Given the description of an element on the screen output the (x, y) to click on. 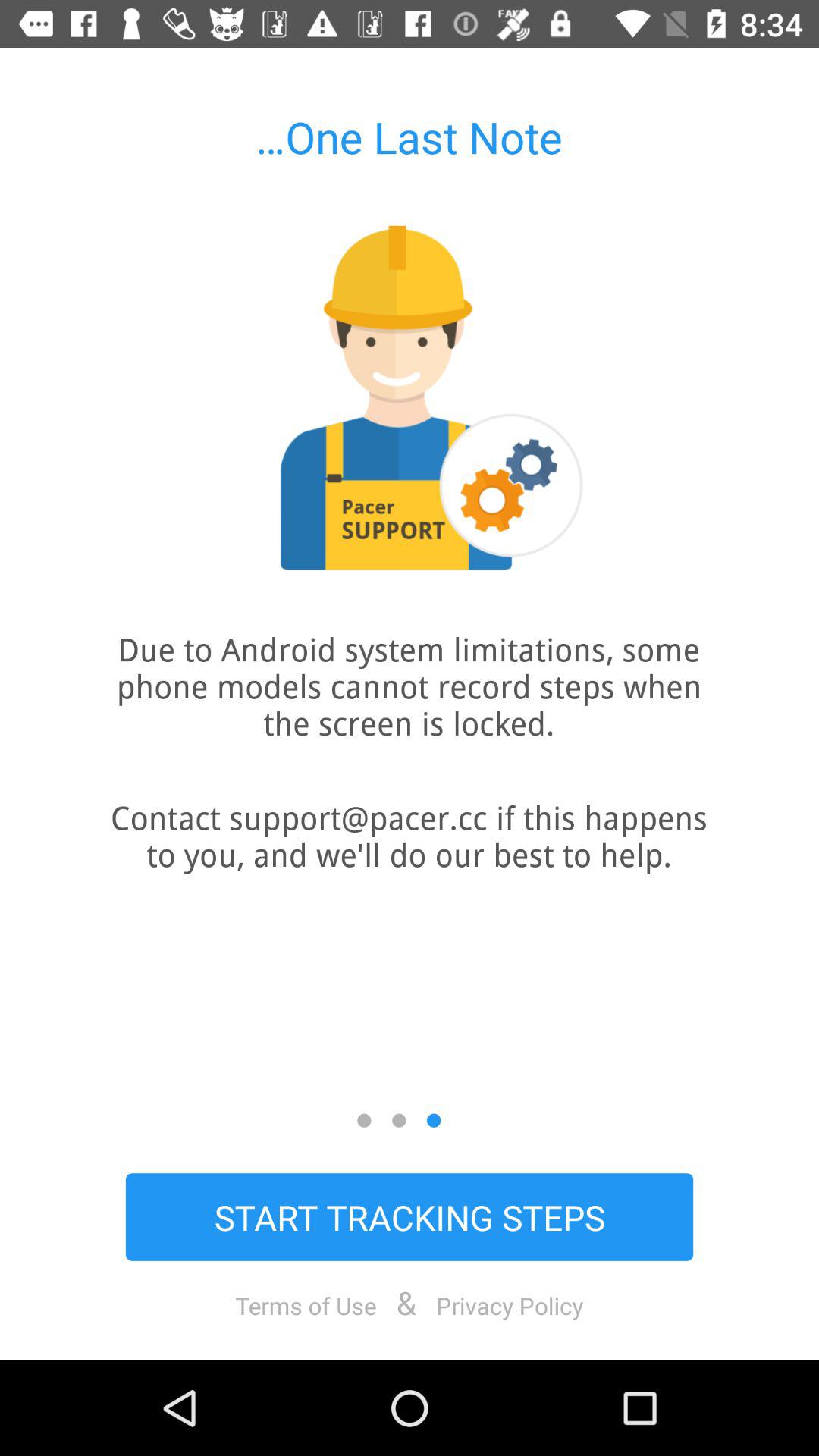
launch the item above the & item (409, 1217)
